Given the description of an element on the screen output the (x, y) to click on. 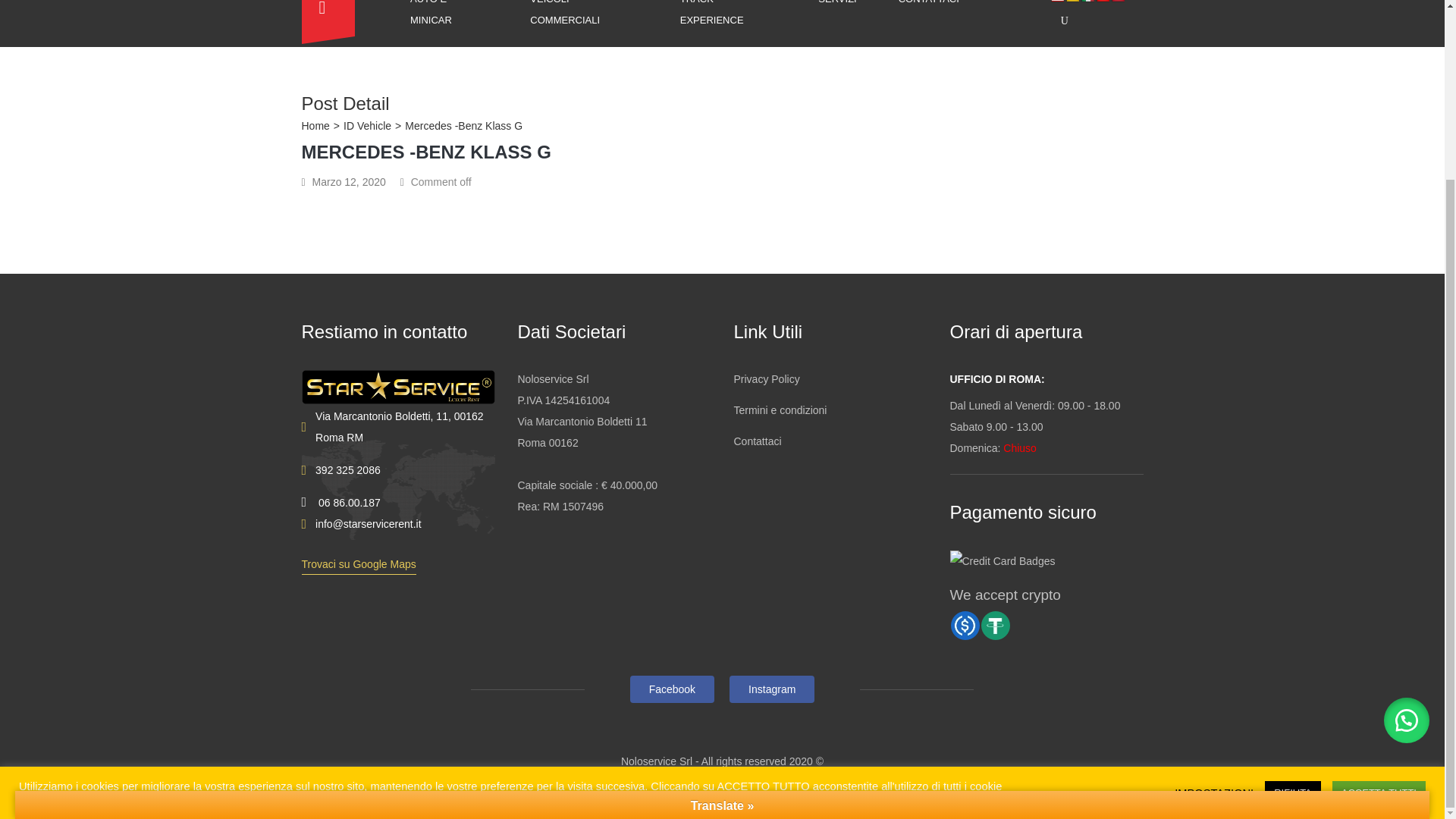
RIFIUTA (1292, 572)
English (1056, 1)
06 86.00.187 (349, 502)
IMPOSTAZIONI (1213, 572)
Servizi (846, 12)
Auto e MiniCar (458, 23)
Search (1012, 123)
Via Marcantonio Boldetti, 11, 00162 Roma RM (405, 426)
Veicoli commerciali (593, 23)
Comment off (440, 182)
Trovaci su Google Maps (358, 563)
392 325 2086 (347, 469)
Instagram (771, 688)
Track Experience (738, 23)
TRACK EXPERIENCE (738, 23)
